Given the description of an element on the screen output the (x, y) to click on. 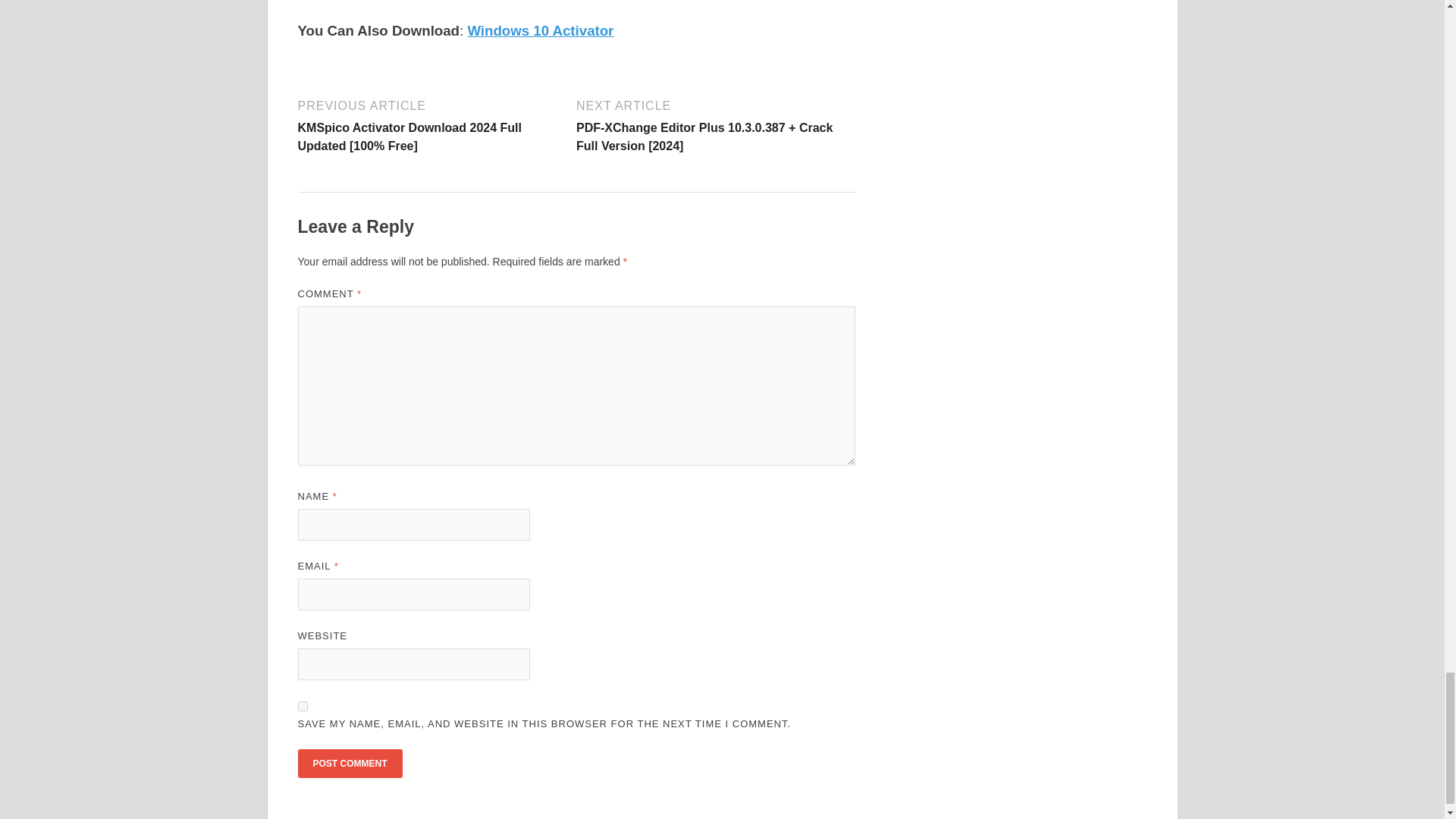
Post Comment (349, 763)
yes (302, 706)
Windows 10 Activator (539, 30)
Post Comment (349, 763)
